Given the description of an element on the screen output the (x, y) to click on. 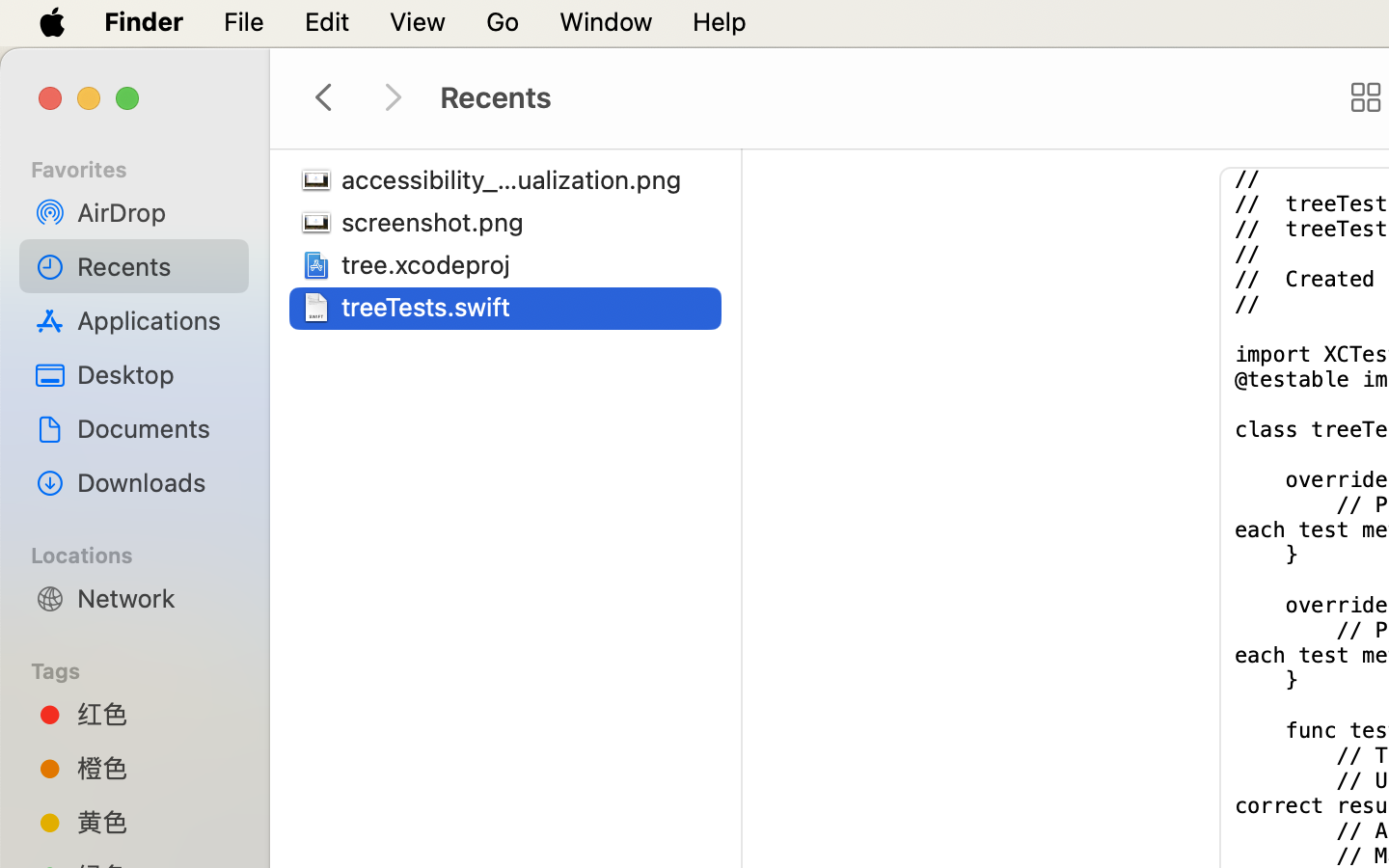
Applications Element type: AXStaticText (155, 319)
Network Element type: AXStaticText (155, 597)
screenshot.png Element type: AXTextField (436, 221)
Documents Element type: AXStaticText (155, 427)
黄色 Element type: AXStaticText (155, 821)
